Given the description of an element on the screen output the (x, y) to click on. 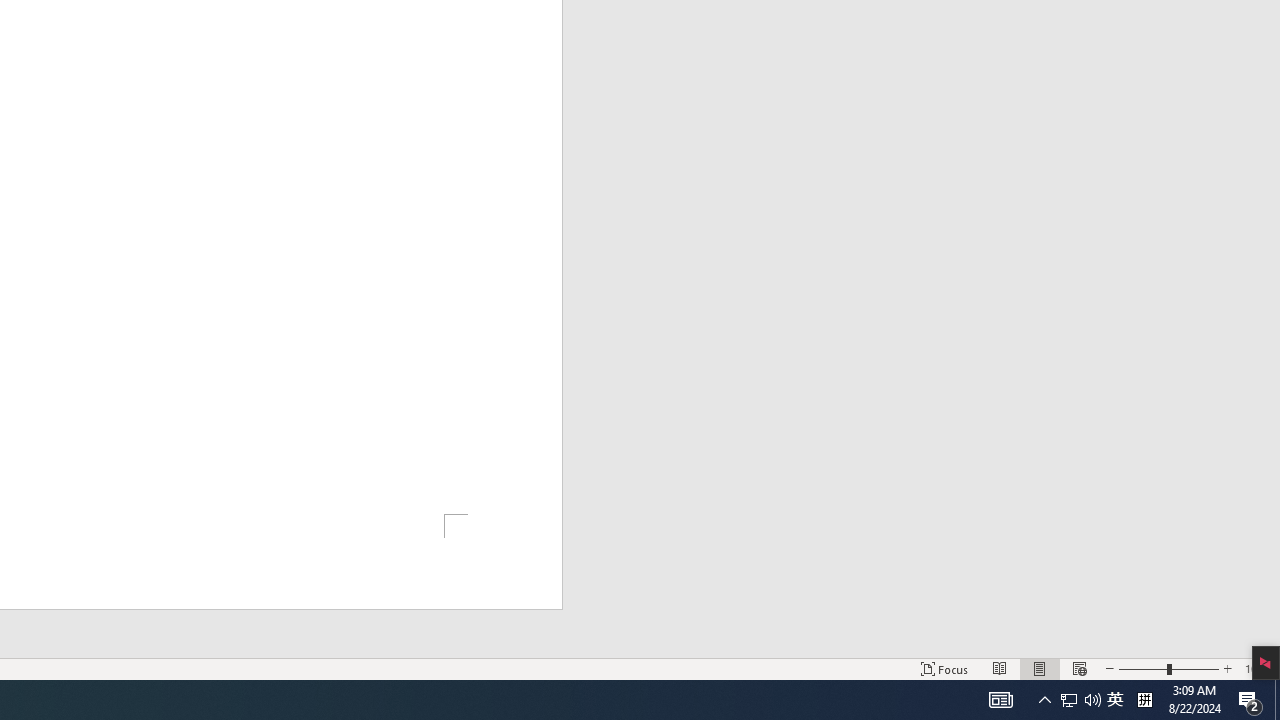
Zoom 100% (1258, 668)
